Given the description of an element on the screen output the (x, y) to click on. 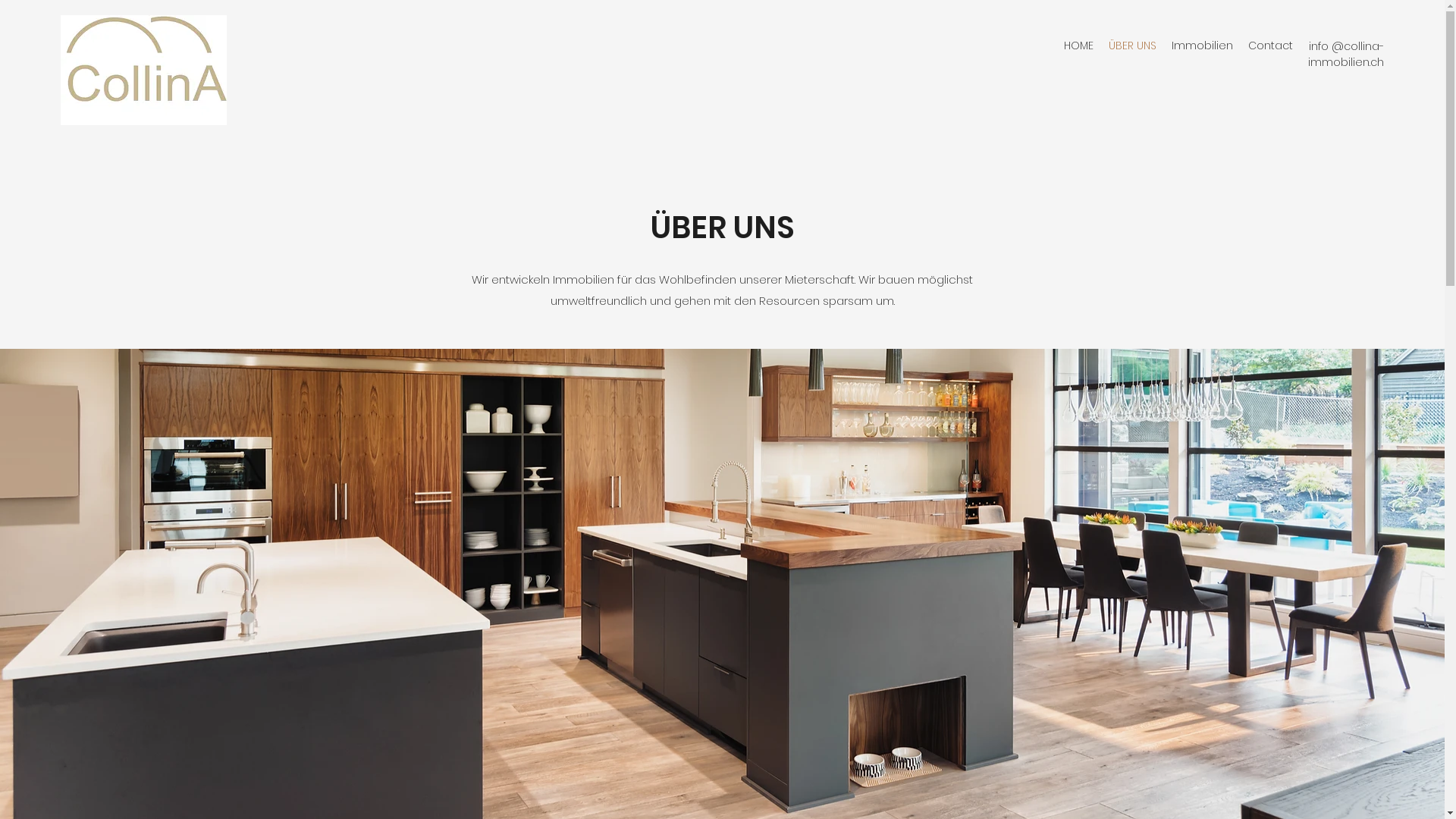
HOME Element type: text (1078, 45)
Immobilien Element type: text (1202, 45)
Contact Element type: text (1270, 45)
